Given the description of an element on the screen output the (x, y) to click on. 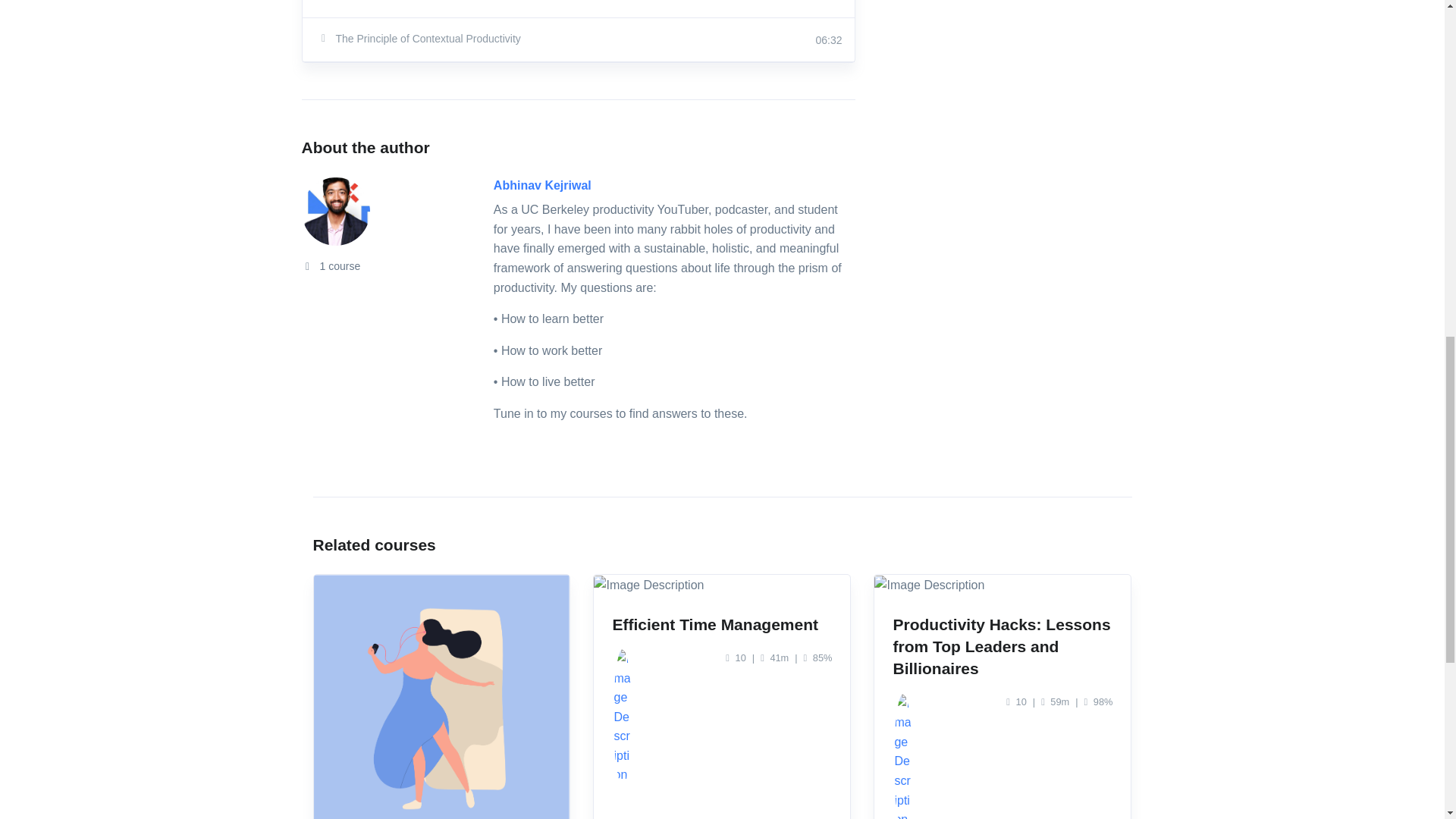
Chris Croft (622, 658)
Efficient Time Management (714, 624)
Abhinav Kejriwal (542, 185)
The Principle of Contextual Productivity (496, 38)
John Robin (903, 702)
